Given the description of an element on the screen output the (x, y) to click on. 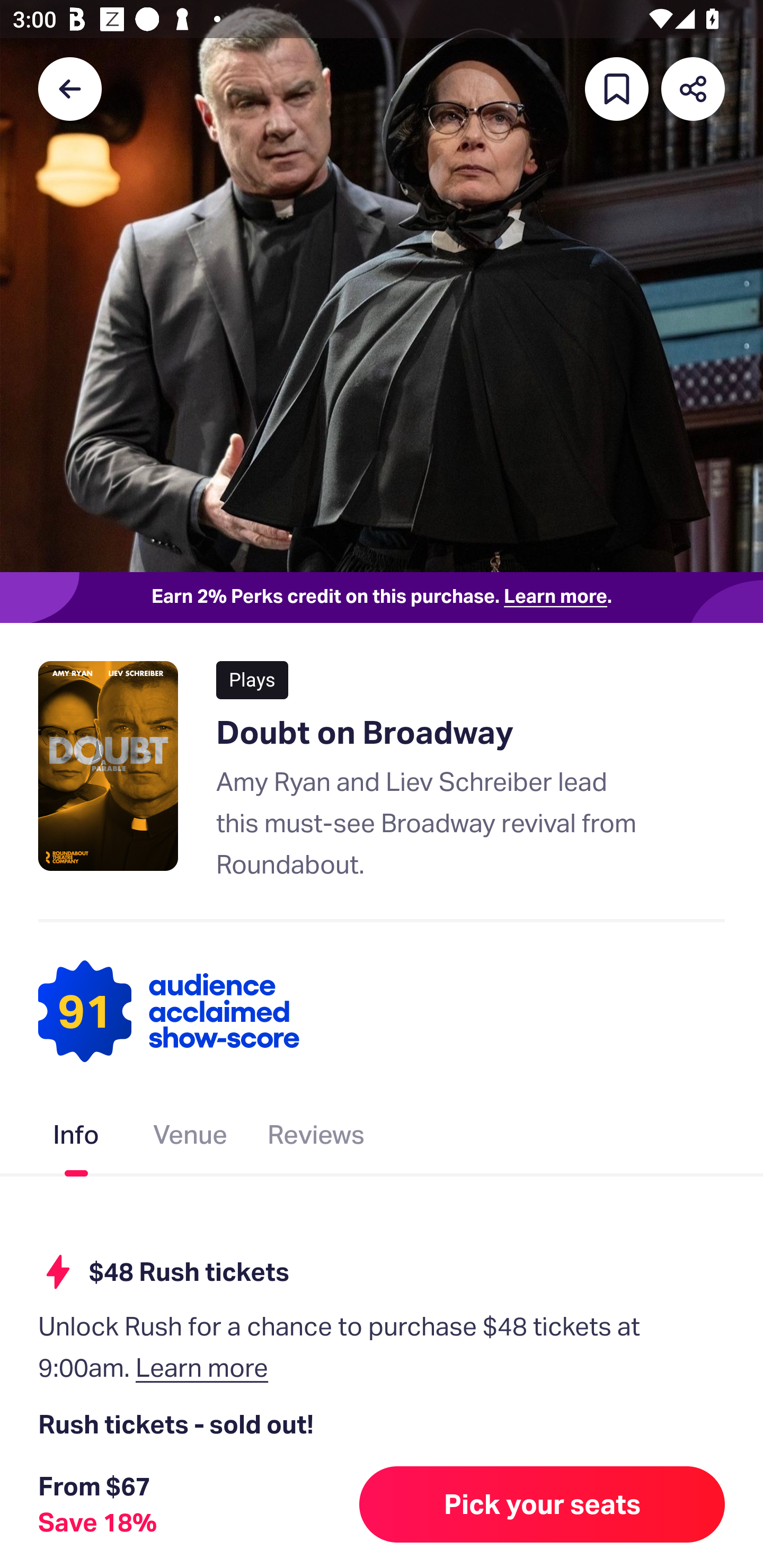
Earn 2% Perks credit on this purchase. Learn more. (381, 597)
Venue (190, 1138)
Reviews (315, 1138)
Pick your seats (541, 1504)
Unlock now (328, 1514)
